Given the description of an element on the screen output the (x, y) to click on. 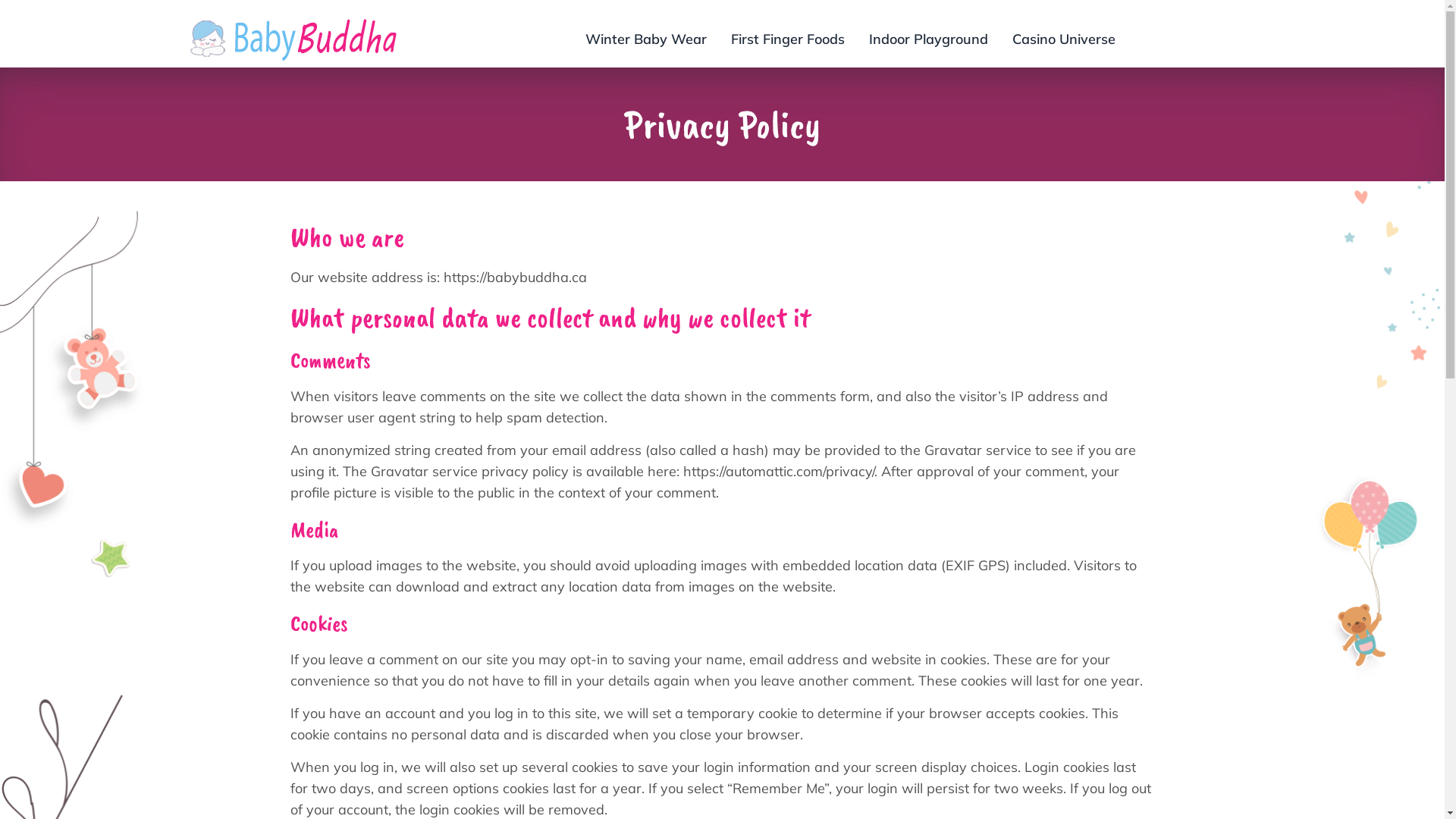
First Finger Foods Element type: text (787, 39)
Casino Universe Element type: text (1063, 39)
Indoor Playground Element type: text (928, 39)
Winter Baby Wear Element type: text (645, 39)
